Given the description of an element on the screen output the (x, y) to click on. 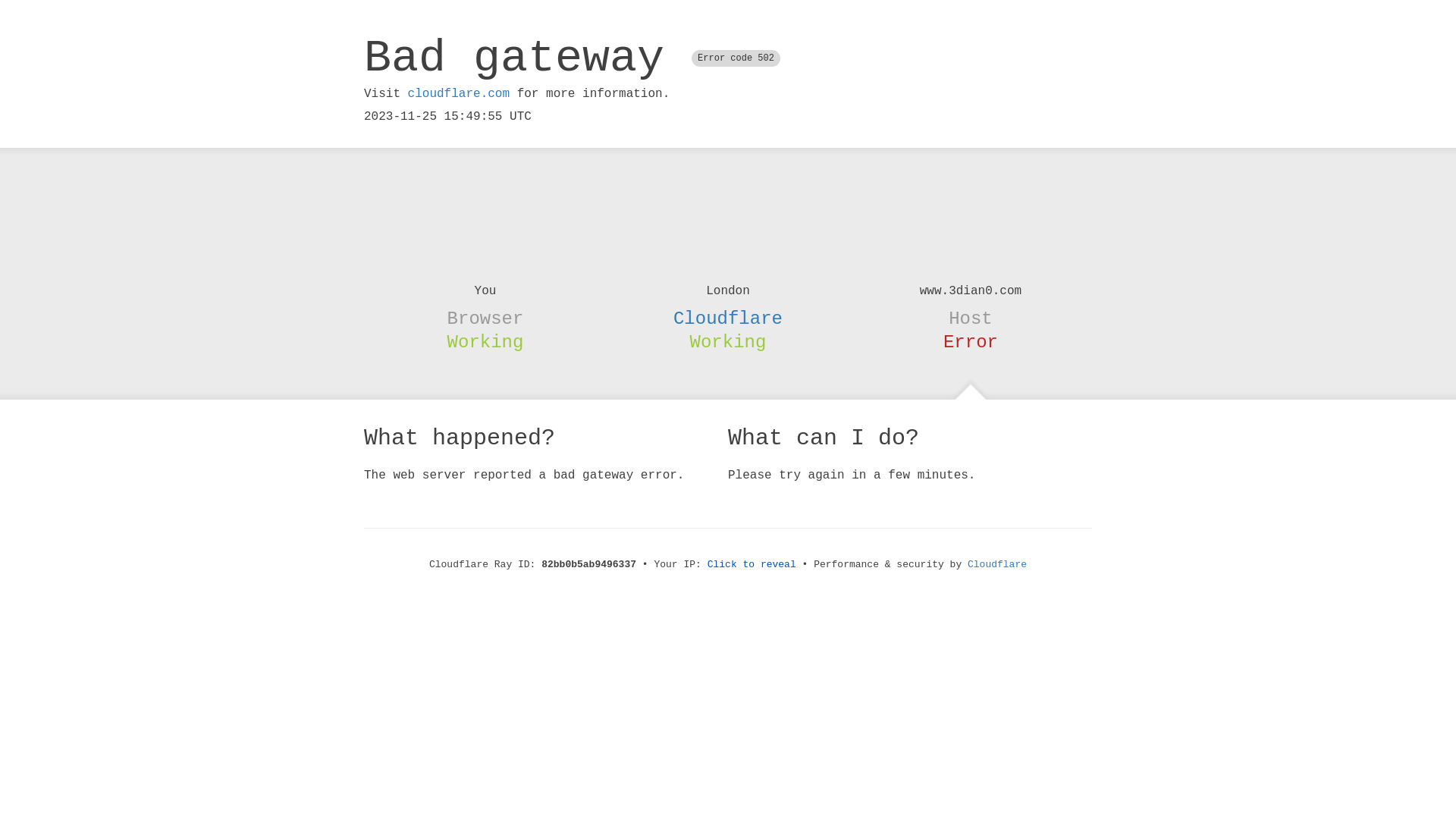
Click to reveal Element type: text (751, 564)
Cloudflare Element type: text (727, 318)
cloudflare.com Element type: text (458, 93)
Cloudflare Element type: text (996, 564)
